Given the description of an element on the screen output the (x, y) to click on. 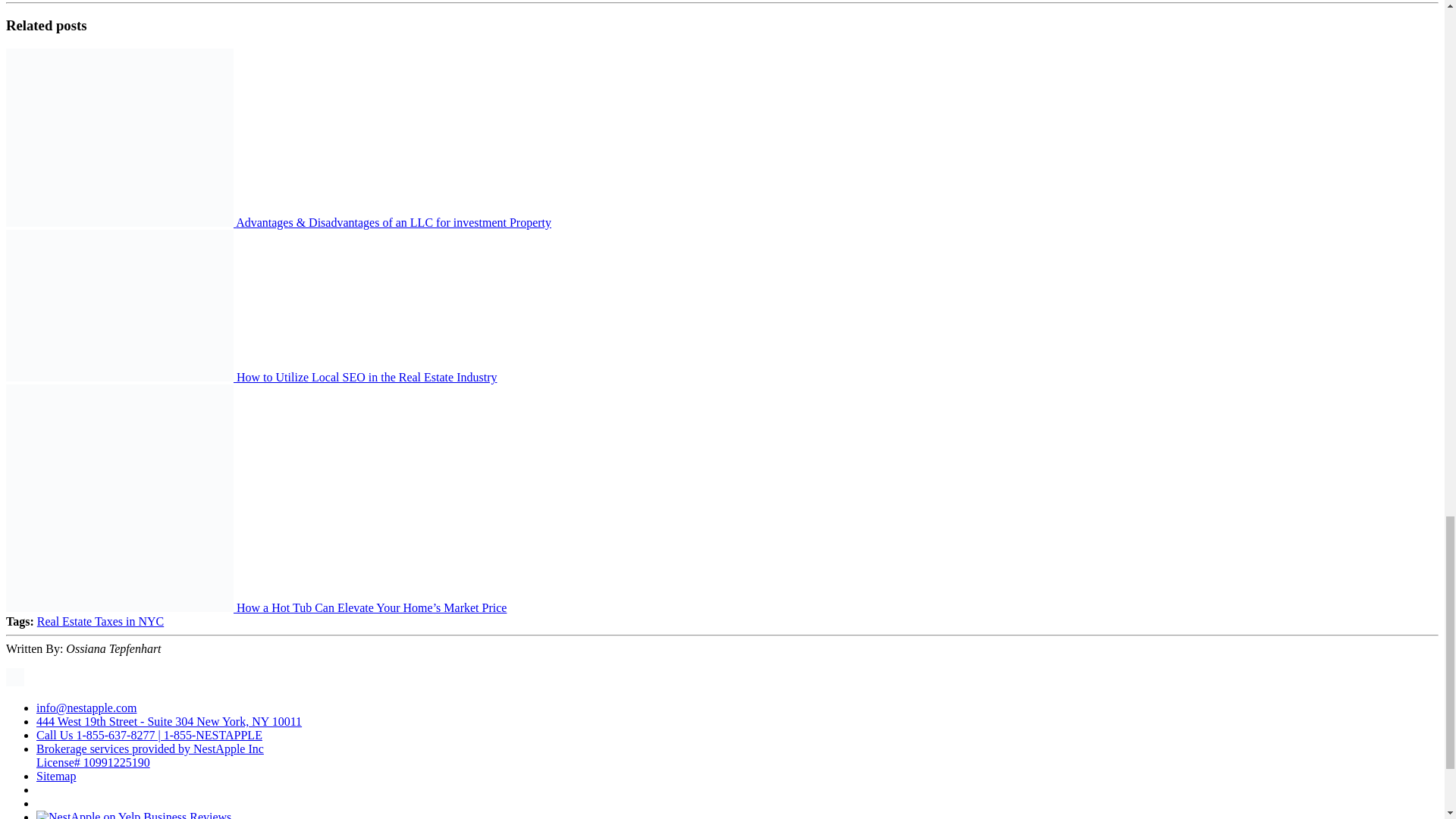
How to Utilize Local SEO in the Real Estate Industry (365, 377)
444 West 19th Street - Suite 304 New York, NY 10011 (168, 721)
Syndicate this site using RSS (14, 681)
Real Estate Taxes in NYC (100, 621)
